Given the description of an element on the screen output the (x, y) to click on. 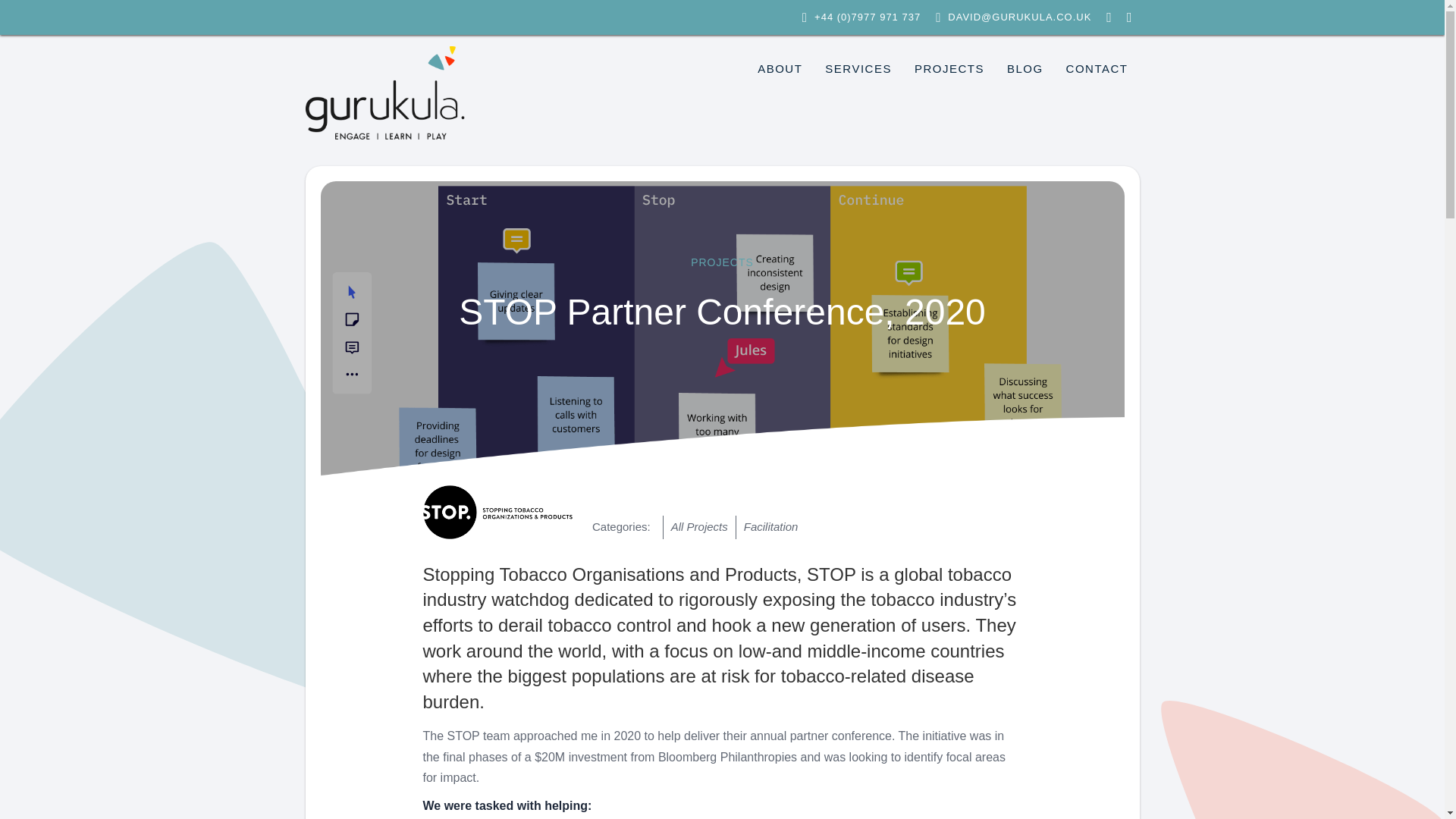
PROJECTS (949, 68)
SERVICES (858, 68)
CONTACT (1096, 68)
ABOUT (779, 68)
